Given the description of an element on the screen output the (x, y) to click on. 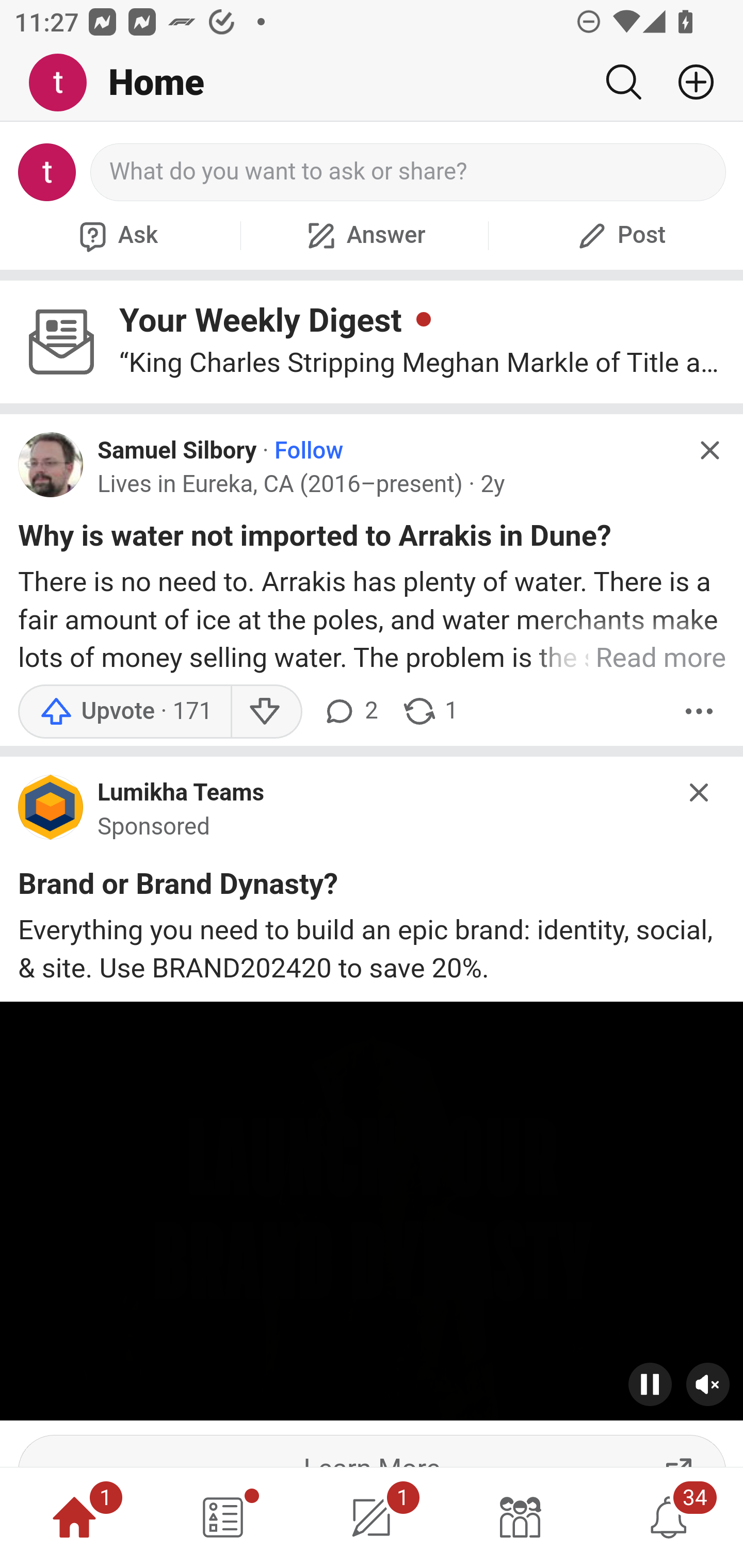
Me Home Search Add (371, 82)
Me (64, 83)
Search (623, 82)
Add (688, 82)
What do you want to ask or share? (408, 172)
Ask (116, 234)
Answer (364, 234)
Post (618, 234)
Hide (709, 449)
Profile photo for Samuel Silbory (50, 465)
Samuel Silbory (177, 451)
Follow (309, 451)
2y 2 y (492, 484)
Upvote (124, 710)
Downvote (266, 710)
2 comments (349, 710)
1 share (429, 710)
More (699, 710)
Hide (699, 792)
main-qimg-f5d4e8fd1215ba730a24b98a5815bcba (50, 812)
Lumikha Teams (181, 792)
Sponsored (154, 827)
Brand or Brand Dynasty? (178, 887)
Pause (650, 1383)
VolumeMuted (708, 1383)
1 (371, 1517)
34 (668, 1517)
